Given the description of an element on the screen output the (x, y) to click on. 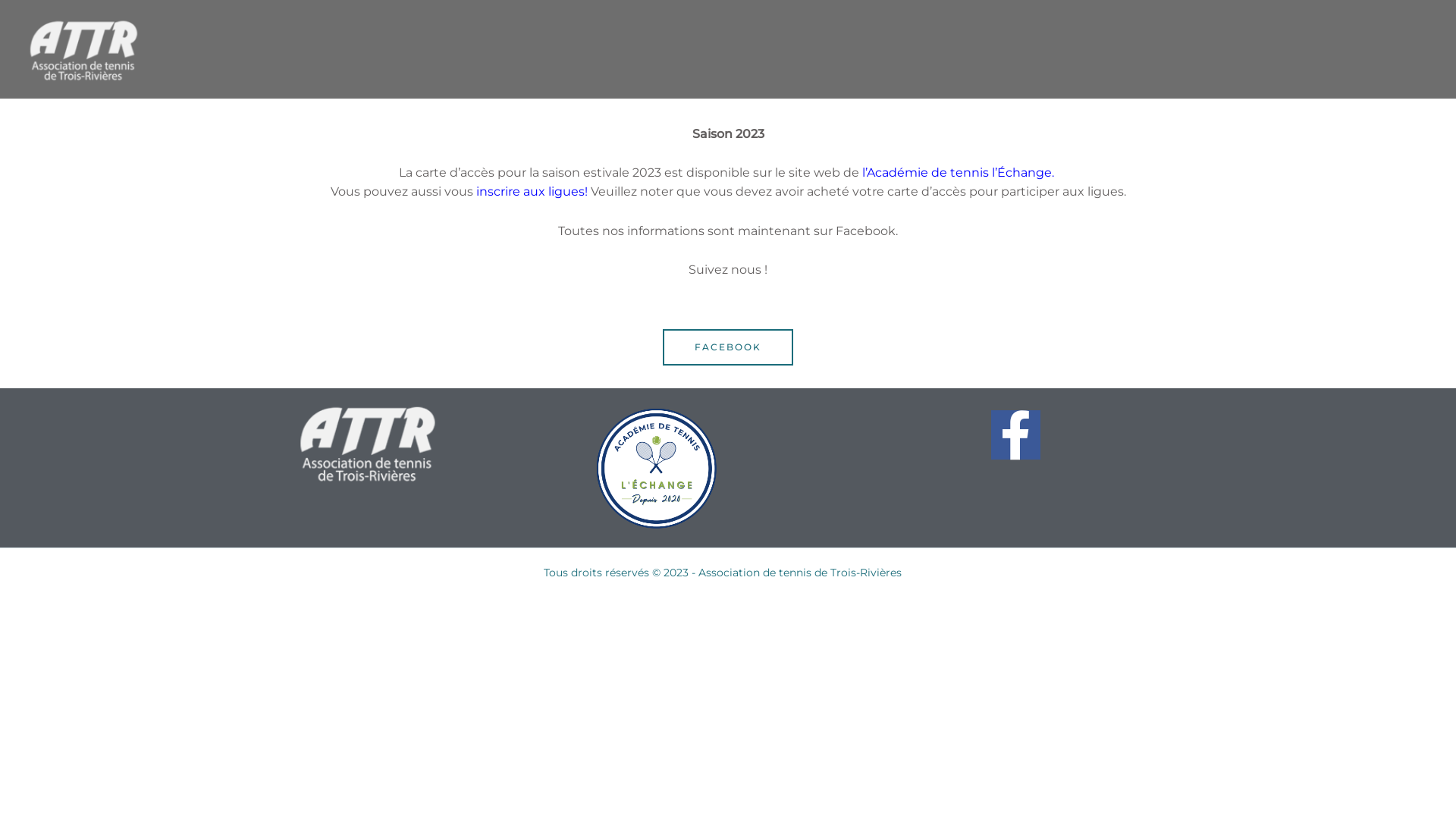
inscrire aux ligues Element type: text (530, 191)
FACEBOOK Element type: text (727, 347)
